Given the description of an element on the screen output the (x, y) to click on. 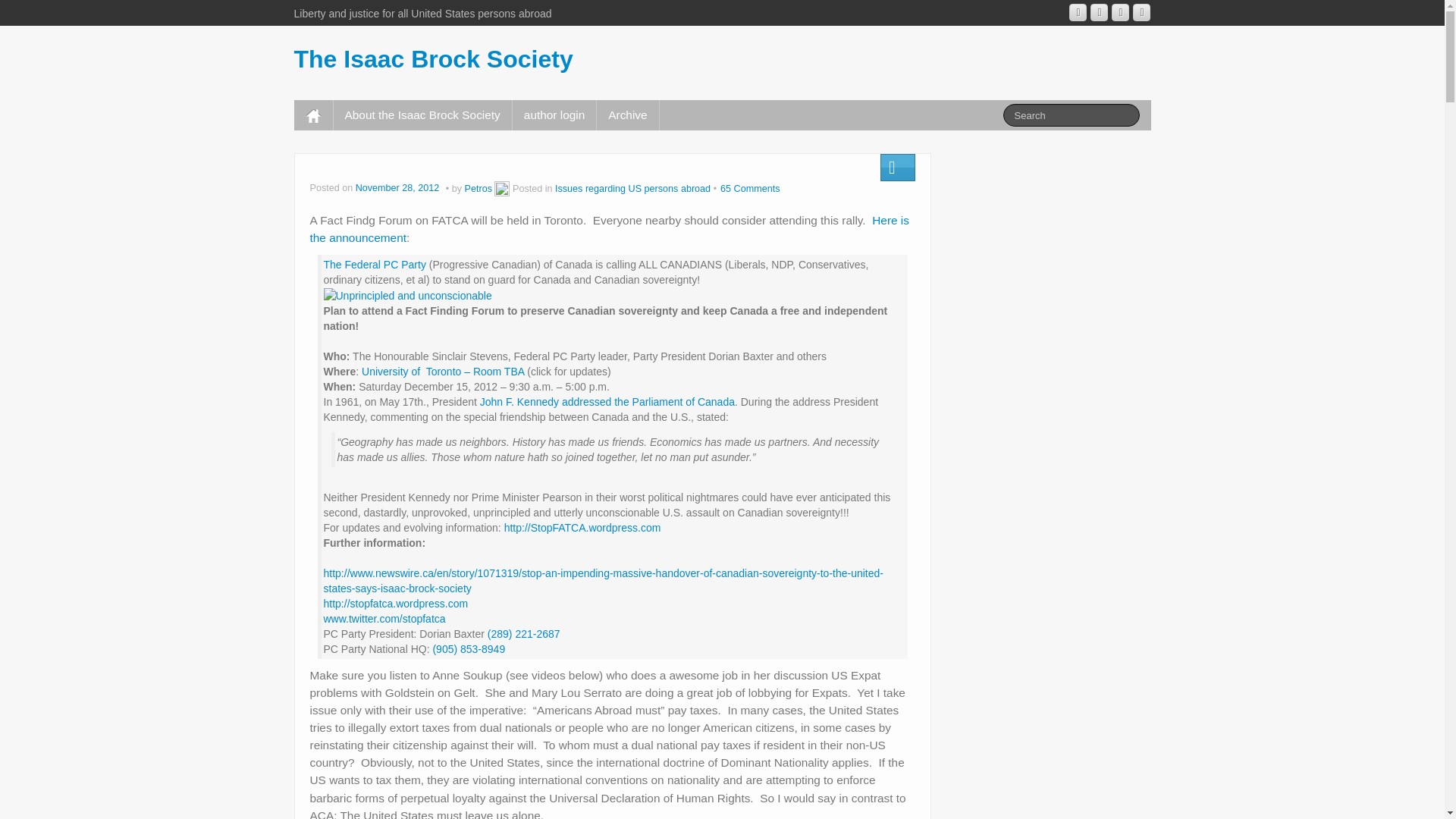
The Isaac Brock Society (433, 58)
Here is the announcement (608, 228)
John F. Kennedy addressed the Parliament of Canada (607, 401)
Issues regarding US persons abroad (632, 188)
11:37 am (398, 188)
The Federal PC Party (374, 264)
The Isaac Brock Society Googleplus (1077, 12)
View all posts by Petros (478, 188)
author login (553, 114)
Archive (627, 114)
